Given the description of an element on the screen output the (x, y) to click on. 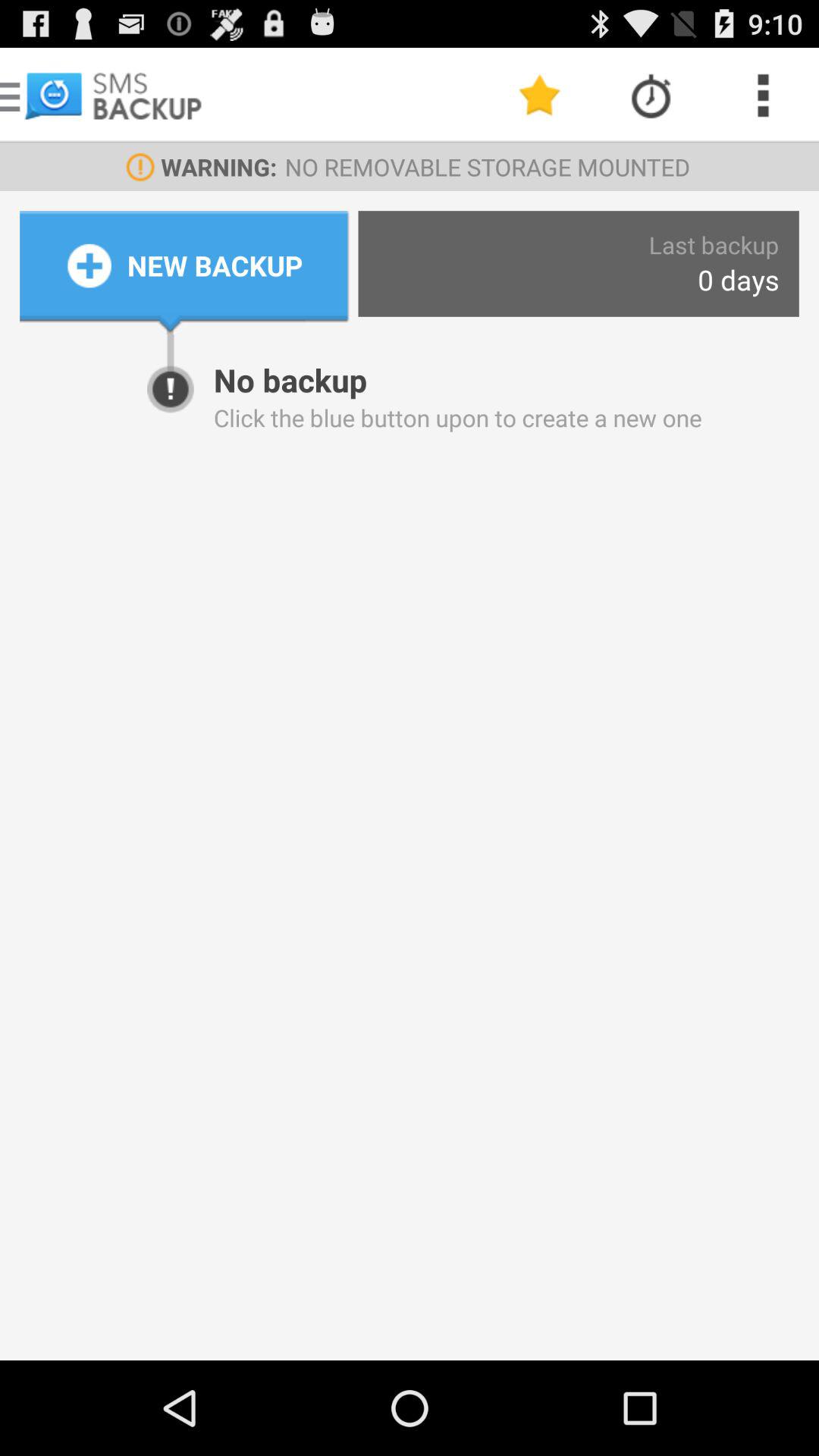
turn on the new backup app (215, 265)
